Given the description of an element on the screen output the (x, y) to click on. 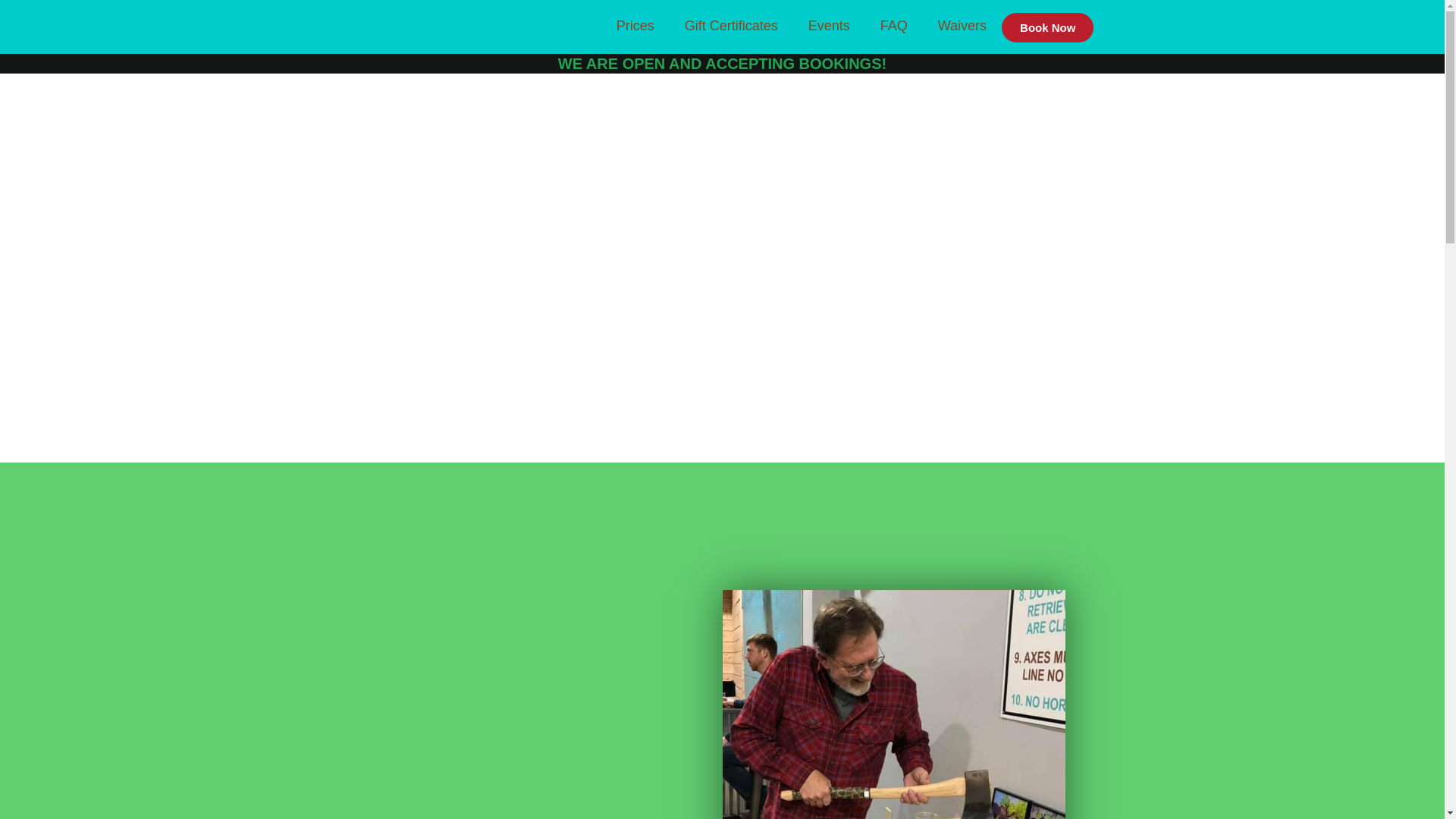
Book Now (1047, 27)
Gift Certificates (731, 25)
Waivers (962, 25)
Events (828, 25)
FAQ (893, 25)
Prices (635, 25)
